Given the description of an element on the screen output the (x, y) to click on. 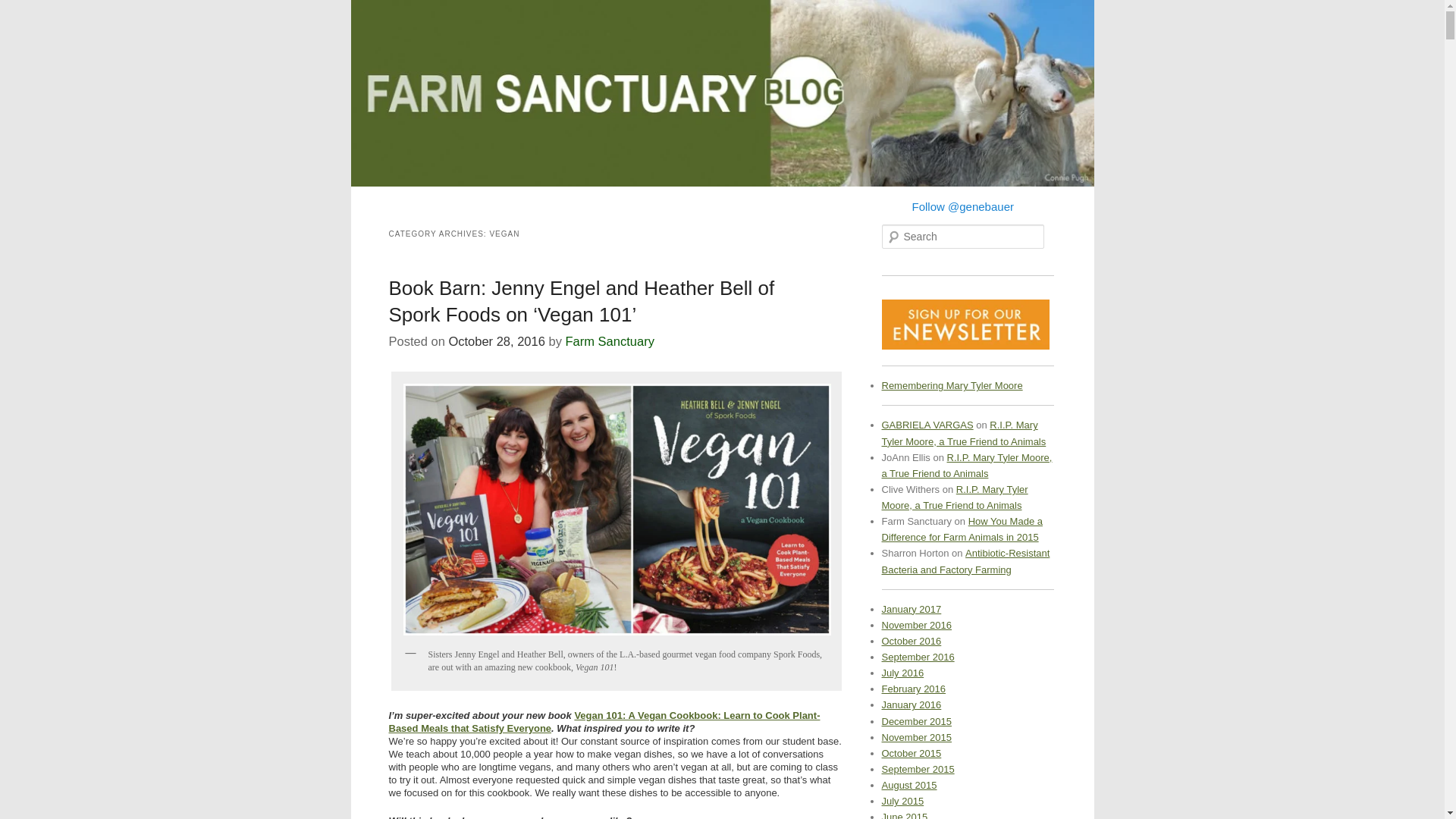
Farm Sanctuary Blog (441, 29)
October 28, 2016 (496, 341)
View all posts by Farm Sanctuary (609, 341)
Skip to primary content (435, 202)
Skip to secondary content (442, 202)
Farm Sanctuary Blog (441, 29)
1:05 am (496, 341)
Farm Sanctuary (609, 341)
Skip to primary content (435, 202)
Skip to secondary content (442, 202)
